Given the description of an element on the screen output the (x, y) to click on. 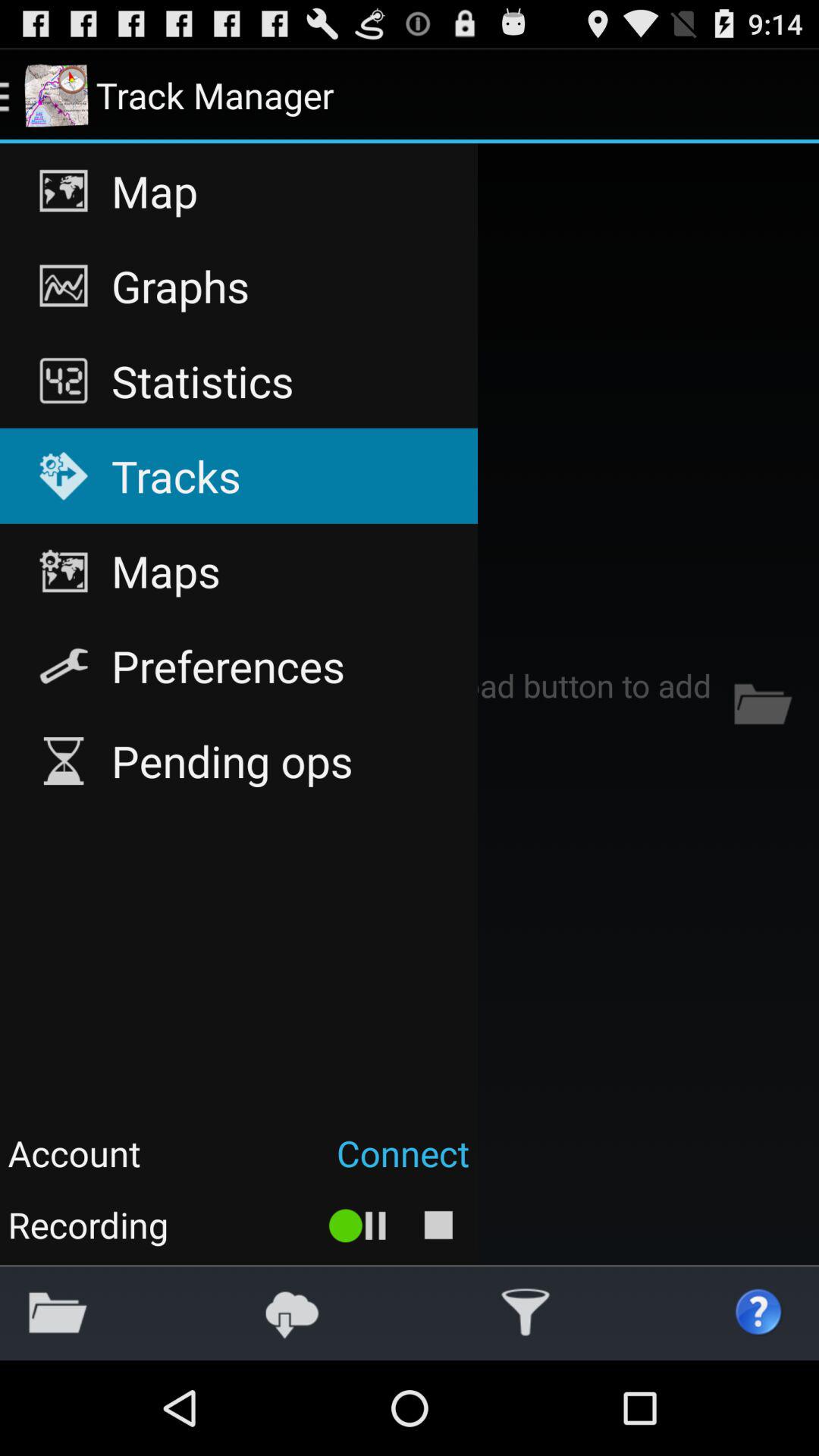
select item at the center (409, 703)
